Given the description of an element on the screen output the (x, y) to click on. 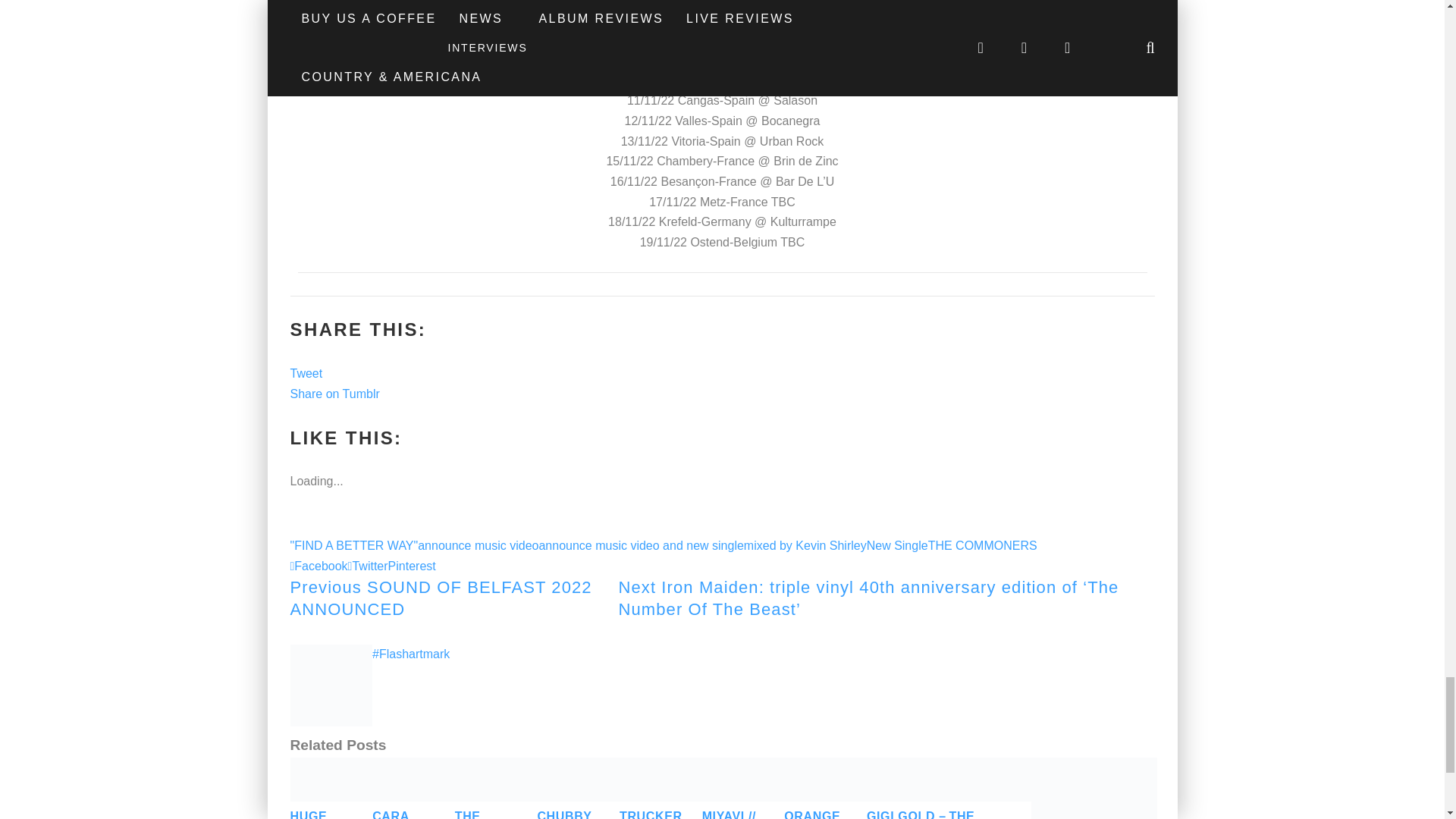
"FIND A BETTER WAY" (353, 545)
Share on Tumblr (333, 393)
Share on Tumblr (333, 393)
Tweet (305, 373)
